Given the description of an element on the screen output the (x, y) to click on. 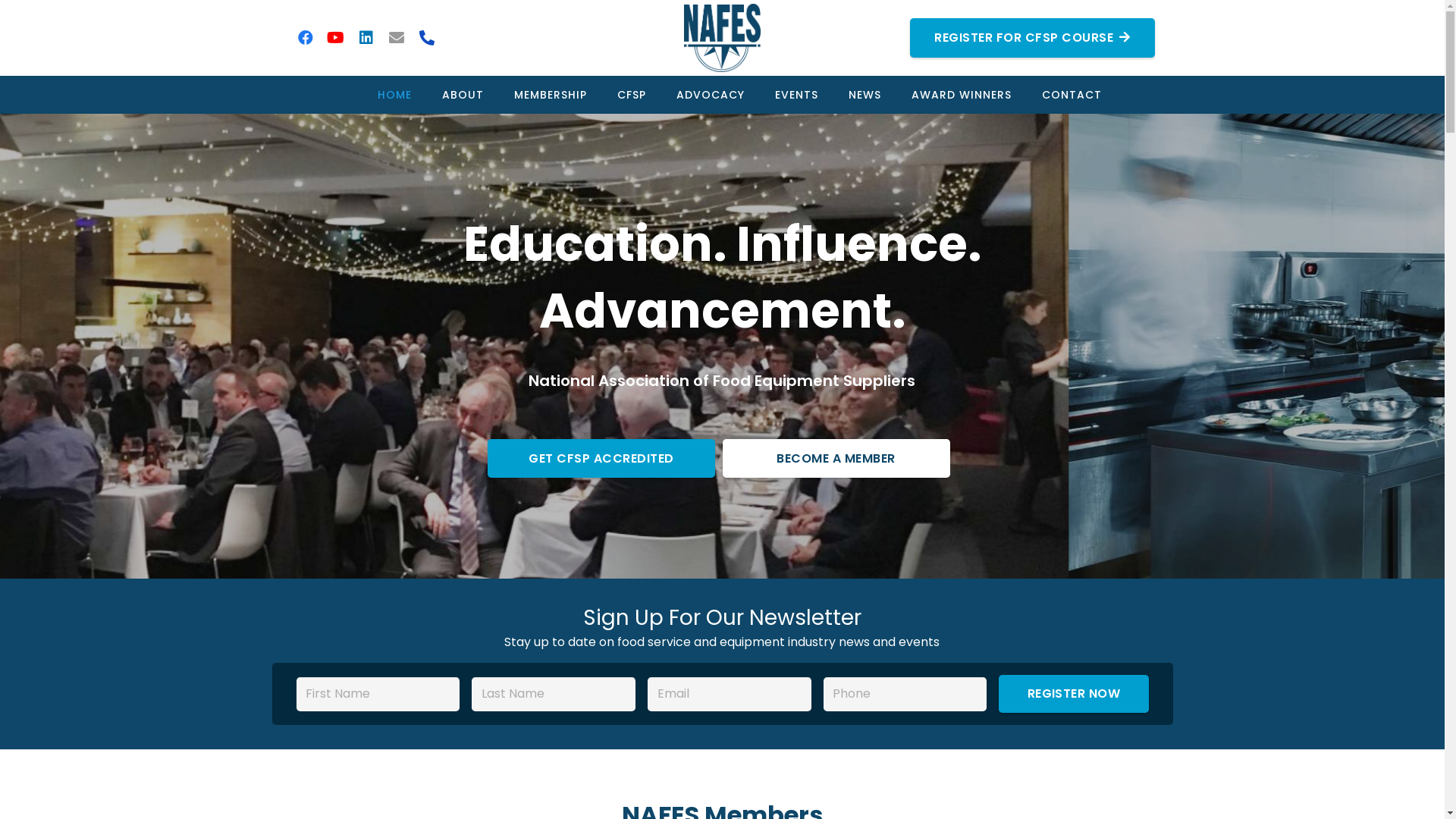
REGISTER NOW Element type: text (1073, 693)
NEWS Element type: text (864, 94)
Facebook Element type: hover (304, 37)
Email Element type: hover (395, 37)
GET CFSP ACCREDITED Element type: text (601, 458)
ABOUT Element type: text (462, 94)
REGISTER FOR CFSP COURSE Element type: text (1032, 37)
CONTACT Element type: text (1071, 94)
HOME Element type: text (394, 94)
YouTube Element type: hover (335, 37)
LinkedIn Element type: hover (365, 37)
MEMBERSHIP Element type: text (550, 94)
ADVOCACY Element type: text (710, 94)
CFSP Element type: text (631, 94)
Phone Element type: hover (426, 37)
EVENTS Element type: text (796, 94)
AWARD WINNERS Element type: text (961, 94)
BECOME A MEMBER Element type: text (835, 458)
